Given the description of an element on the screen output the (x, y) to click on. 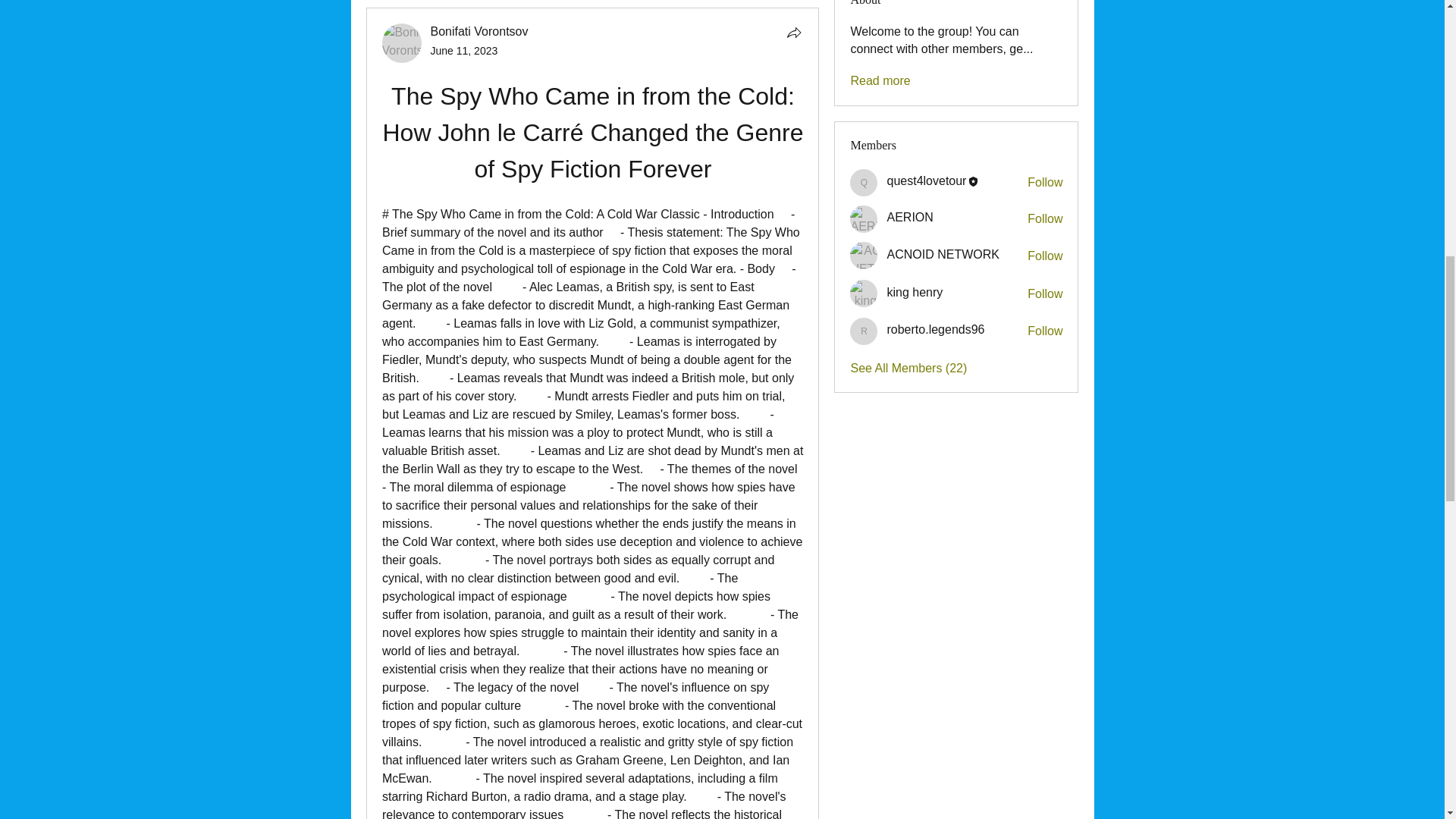
quest4lovetour (863, 182)
Read more (880, 80)
AERION (863, 218)
Follow (1044, 218)
ACNOID NETWORK (863, 255)
Follow (1044, 182)
Follow (1044, 330)
king henry (863, 293)
Bonifati Vorontsov (401, 43)
June 11, 2023 (463, 50)
Follow (1044, 293)
roberto.legends96 (863, 330)
Follow (1044, 256)
roberto.legends96 (935, 328)
quest4lovetour (926, 180)
